Given the description of an element on the screen output the (x, y) to click on. 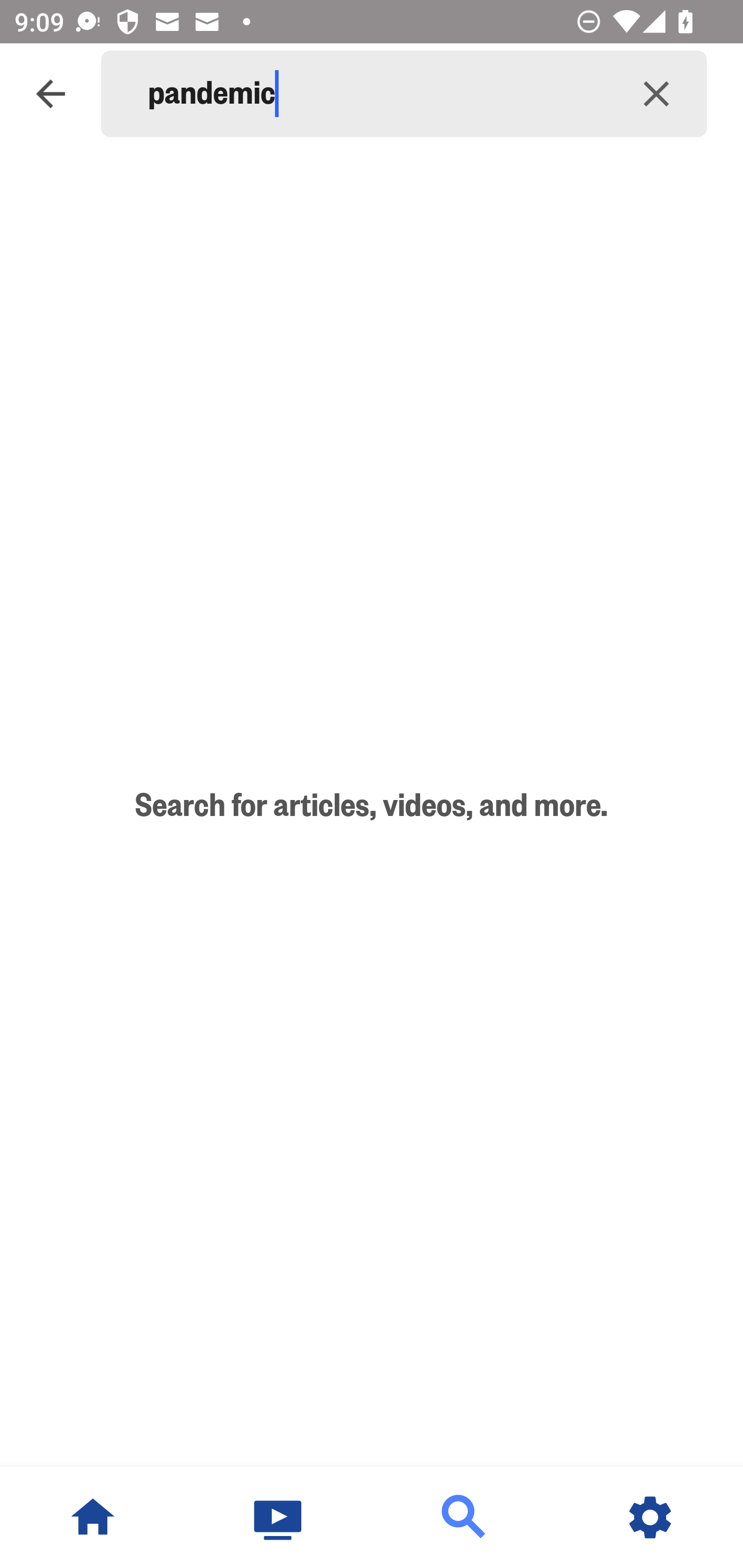
Navigate up (50, 93)
Clear query (656, 93)
pandemic (376, 94)
NBC News Home (92, 1517)
Watch (278, 1517)
Settings (650, 1517)
